Given the description of an element on the screen output the (x, y) to click on. 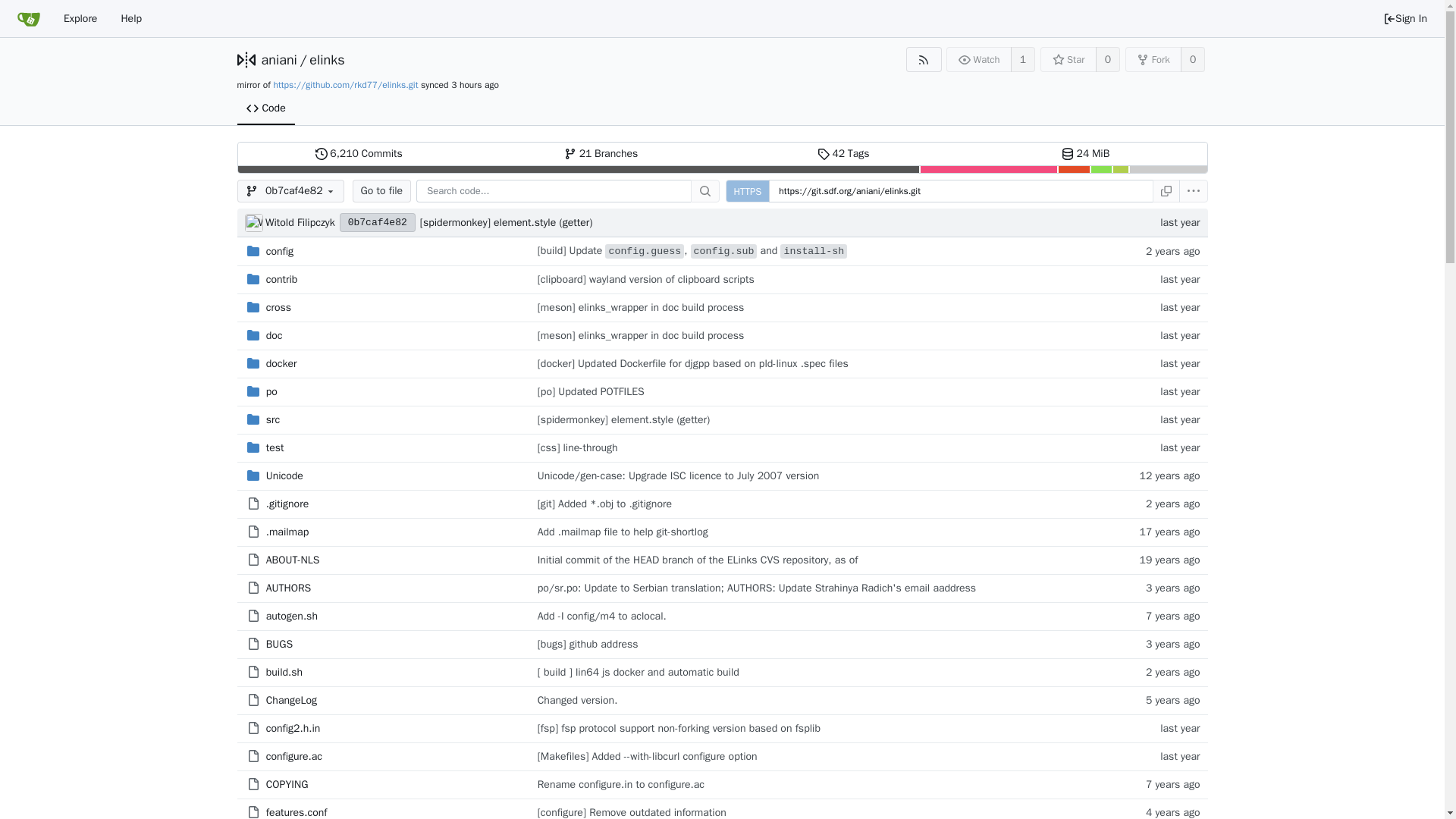
Star (1068, 59)
config (359, 153)
Witold Filipczyk (280, 251)
Witold Filipczyk (299, 222)
contrib (253, 222)
Sign In (282, 278)
aniani (1405, 17)
HTTPS (278, 59)
Go to file (747, 190)
